Given the description of an element on the screen output the (x, y) to click on. 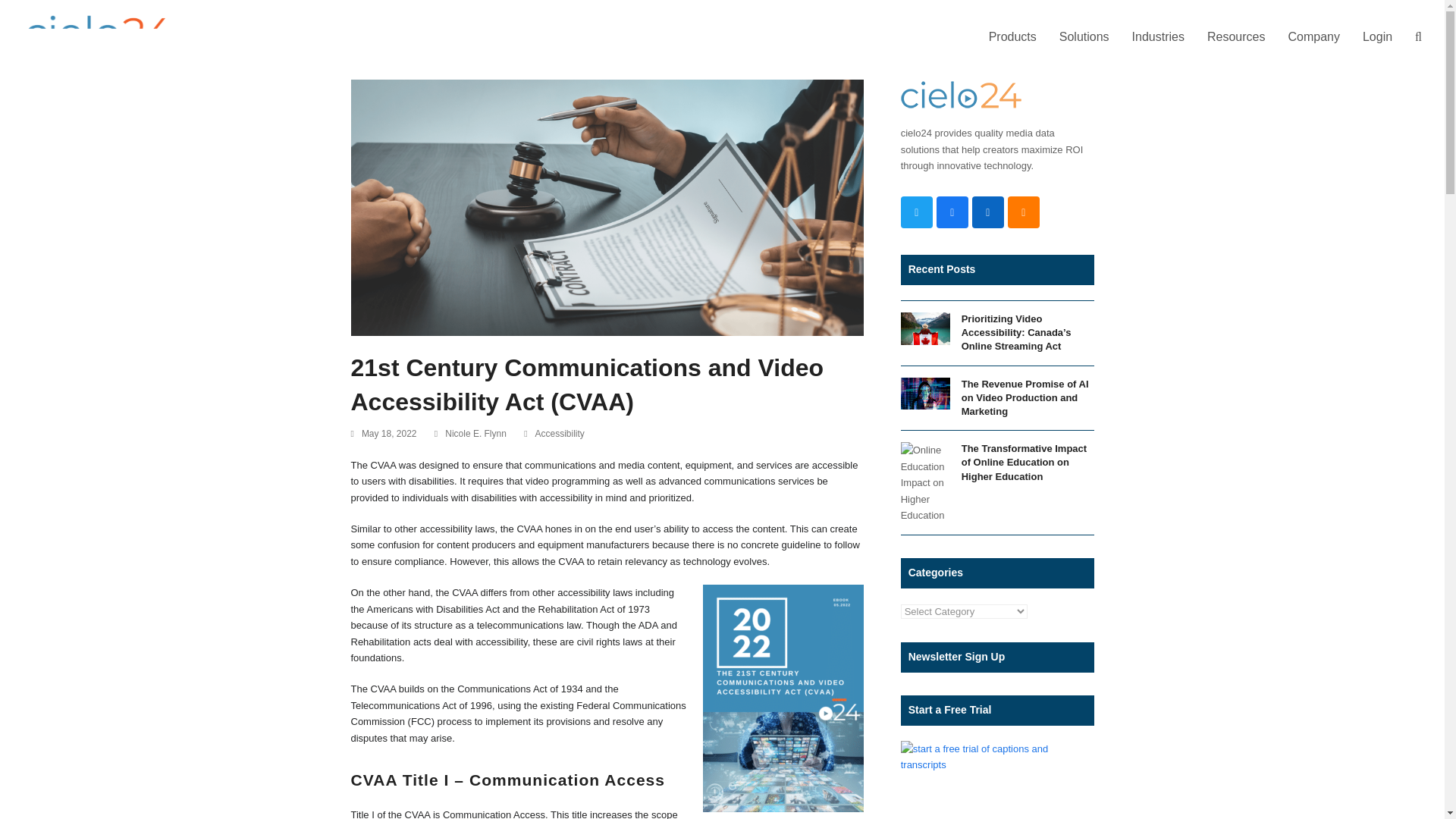
Login (1377, 37)
Facebook (952, 212)
Posts by Nicole E. Flynn (475, 433)
Solutions (1084, 37)
Twitter (917, 212)
Industries (1158, 37)
Solutions (1084, 37)
Resources (1235, 37)
Start a Free Trial (997, 757)
Products (1012, 37)
RSS (1023, 212)
Industries (1158, 37)
Company (1313, 37)
Resources (1235, 37)
LinkedIn (988, 212)
